Given the description of an element on the screen output the (x, y) to click on. 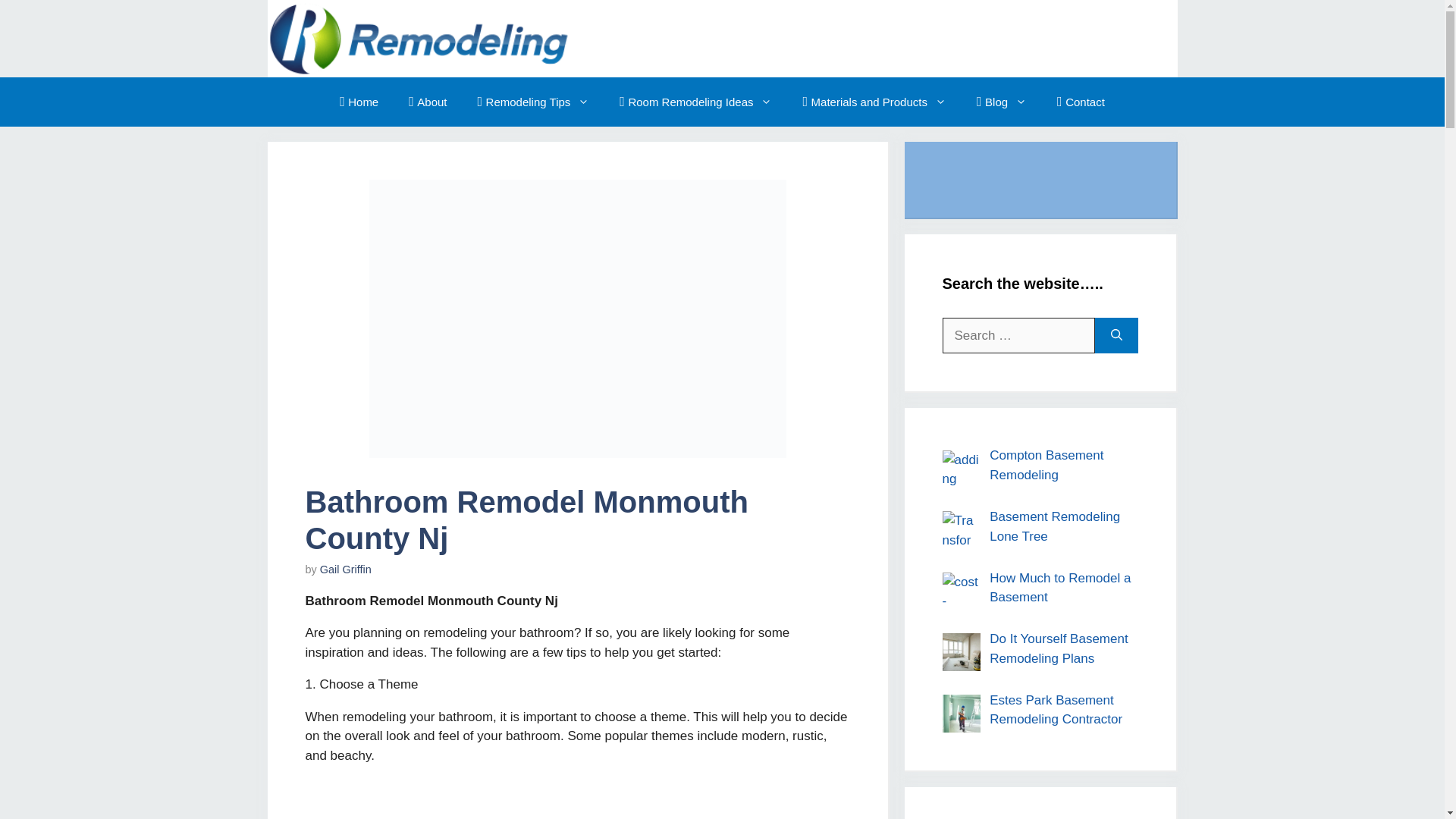
Home (358, 101)
Bathroom Remodel Monmouth County Nj 1 (577, 318)
View all posts by Gail Griffin (345, 569)
About (427, 101)
Remodeling Tips (534, 101)
